Given the description of an element on the screen output the (x, y) to click on. 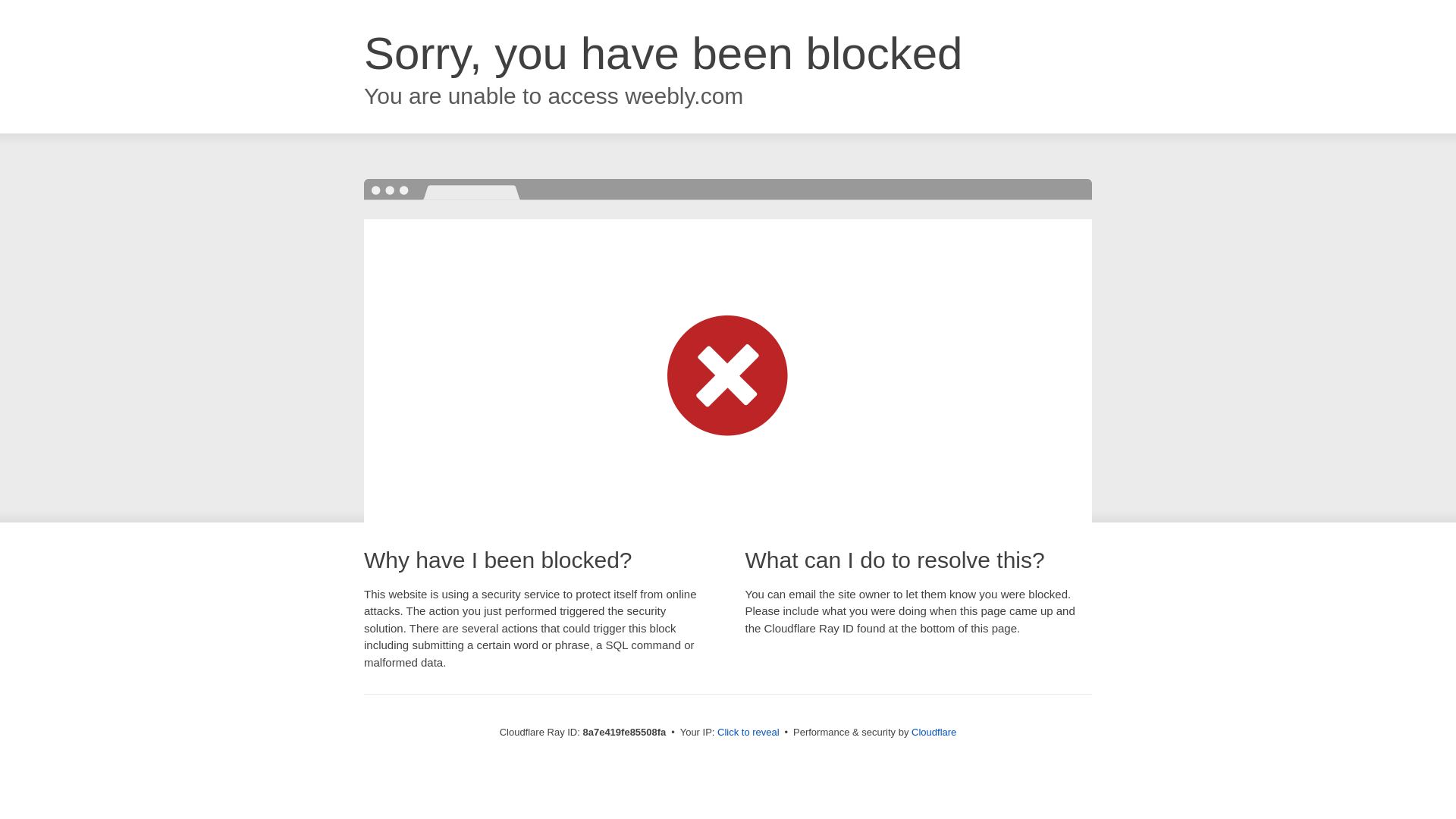
Click to reveal (747, 732)
Cloudflare (933, 731)
